Given the description of an element on the screen output the (x, y) to click on. 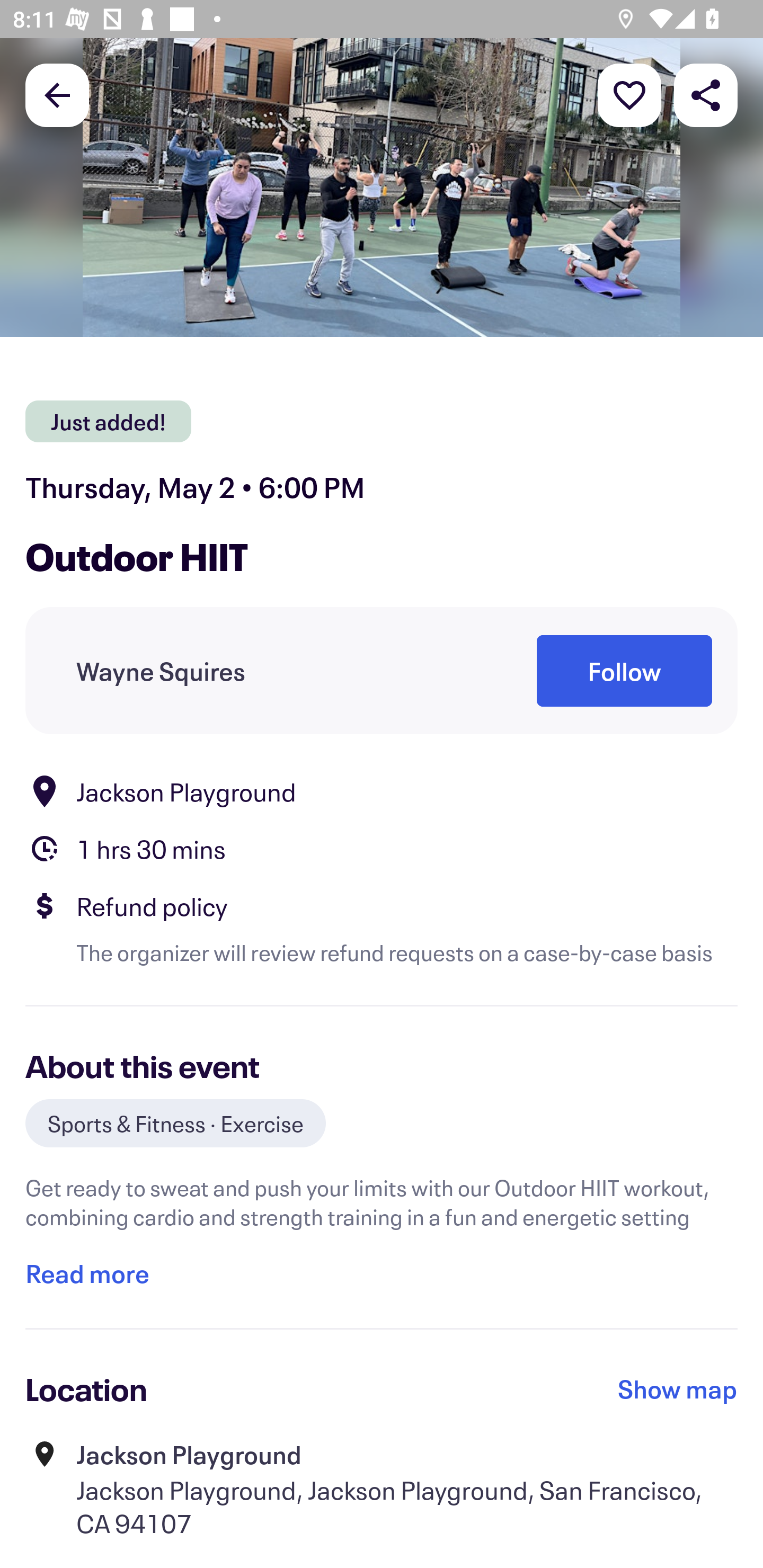
Back (57, 94)
More (629, 94)
Share (705, 94)
Just added! (108, 421)
Wayne Squires (160, 670)
Follow (623, 670)
Location Jackson Playground (381, 790)
Read more (87, 1272)
Show map (677, 1388)
